Given the description of an element on the screen output the (x, y) to click on. 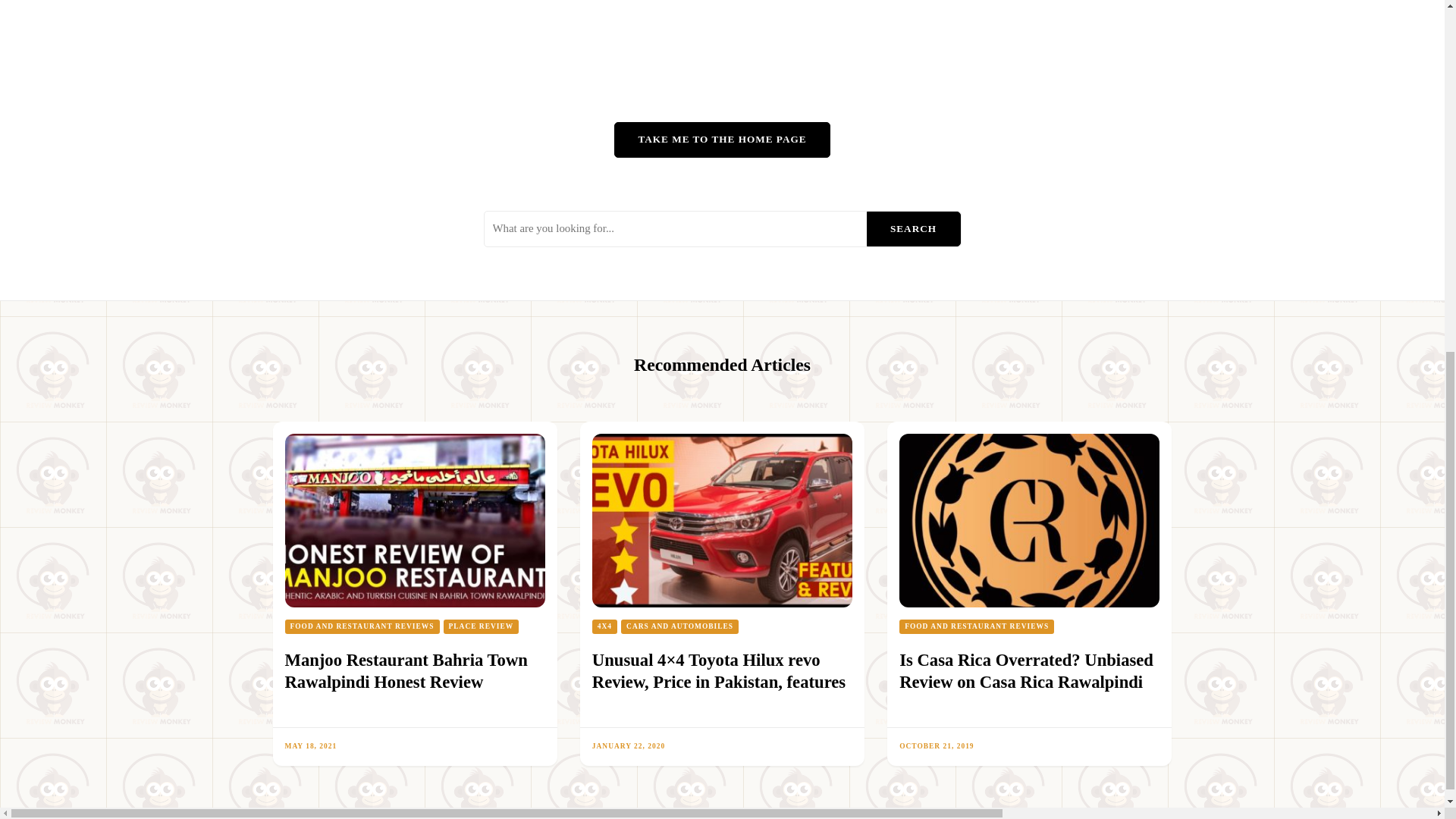
Search (912, 229)
Manjoo Restaurant Bahria Town Rawalpindi Honest Review (406, 670)
Search (912, 229)
Search (912, 229)
PLACE REVIEW (480, 626)
TAKE ME TO THE HOME PAGE (721, 140)
FOOD AND RESTAURANT REVIEWS (362, 626)
